Given the description of an element on the screen output the (x, y) to click on. 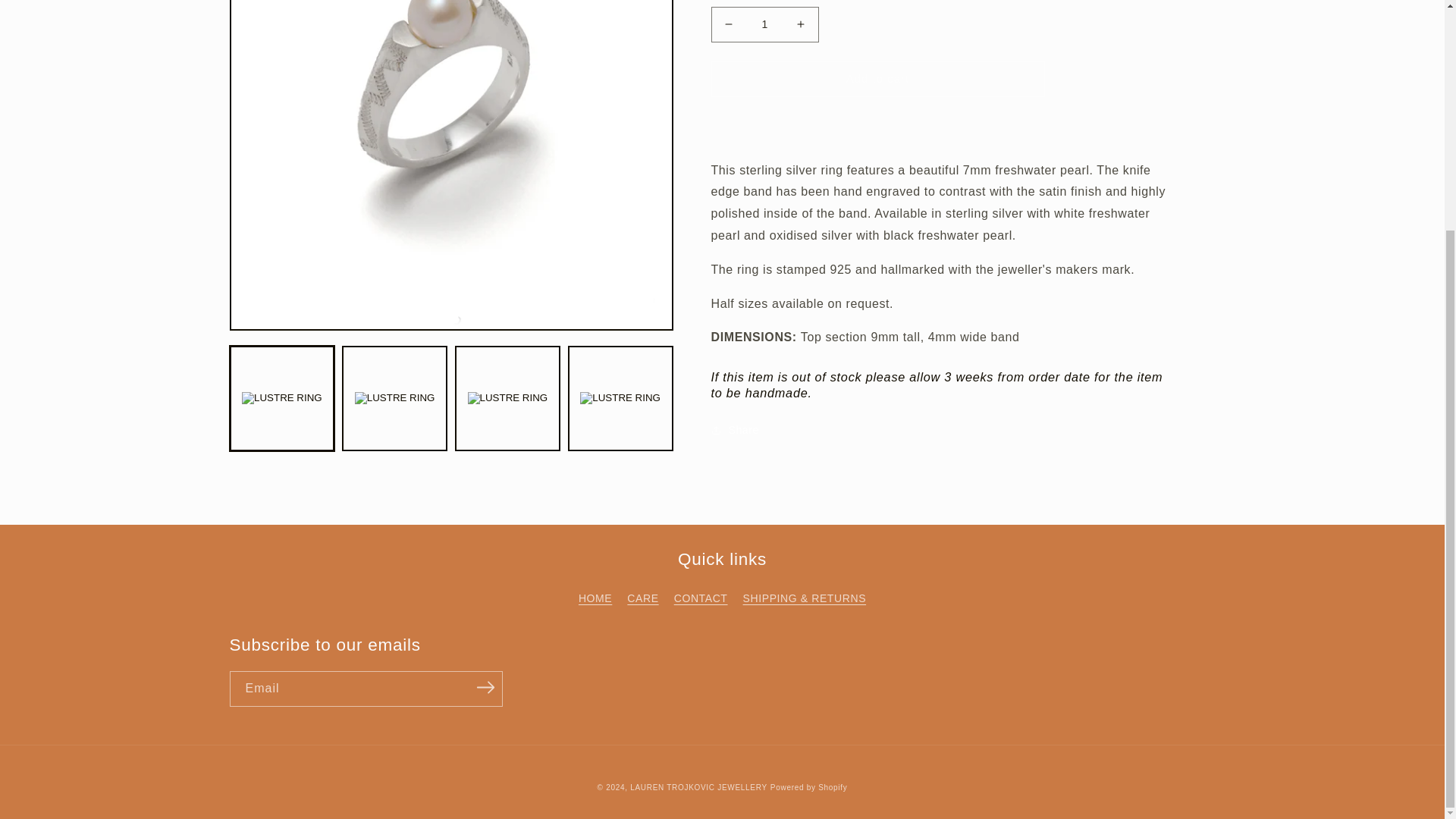
1 (764, 24)
Decrease quantity for LUSTRE RING (728, 24)
Add to cart (878, 79)
Increase quantity for LUSTRE RING (801, 24)
